Given the description of an element on the screen output the (x, y) to click on. 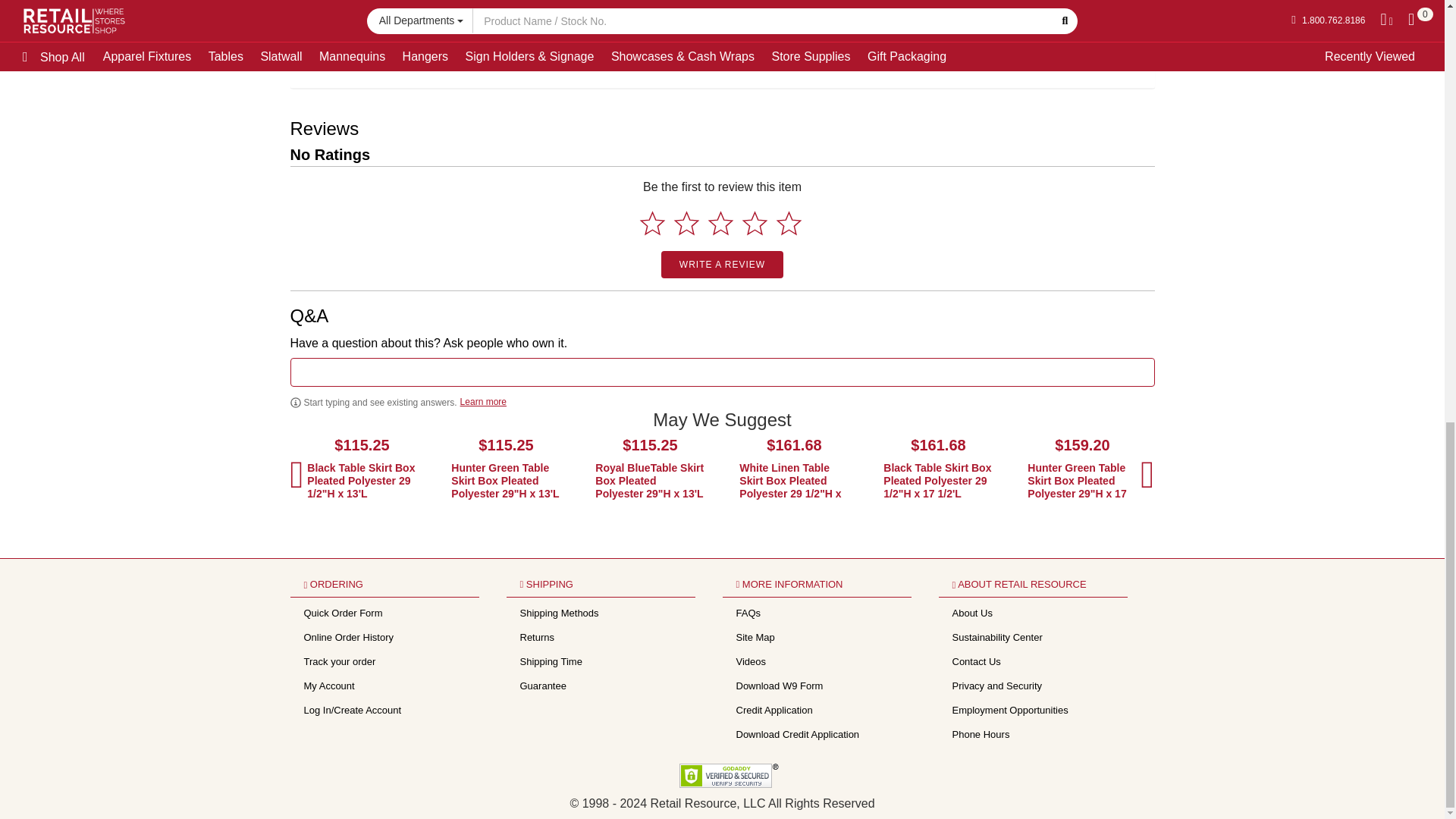
Black-Table-Skirt-Box-Pleated-Polyester-29-12H-x-13L (361, 480)
Hunter-Green-Table-Skirt-Box-Pleated-Polyester-29H-x-13L (505, 480)
Black-Table-Skirt-Box-Pleated-Polyester-29-12H-x-17-12L (937, 480)
Royal-BlueTable-Skirt-Box-Pleated-Polyester-29H-x-13L (649, 480)
Hunter-Green-Table-Skirt-Box-Pleated-Polyester-29H-x-17-12L (1082, 480)
